Given the description of an element on the screen output the (x, y) to click on. 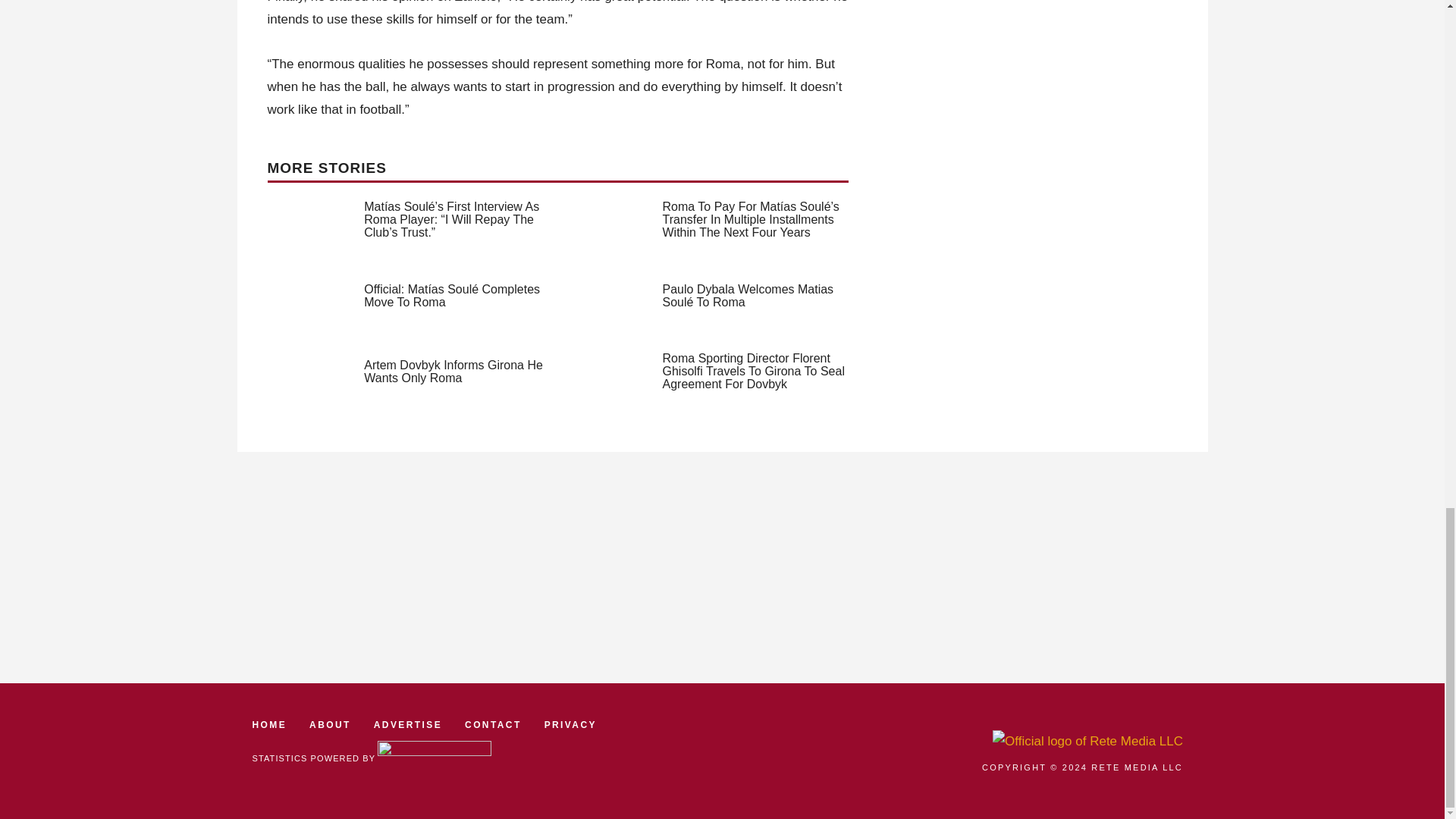
PRIVACY (570, 725)
ABOUT (329, 725)
ADVERTISE (408, 725)
Artem Dovbyk Informs Girona He Wants Only Roma (453, 371)
HOME (268, 725)
CONTACT (492, 725)
